Given the description of an element on the screen output the (x, y) to click on. 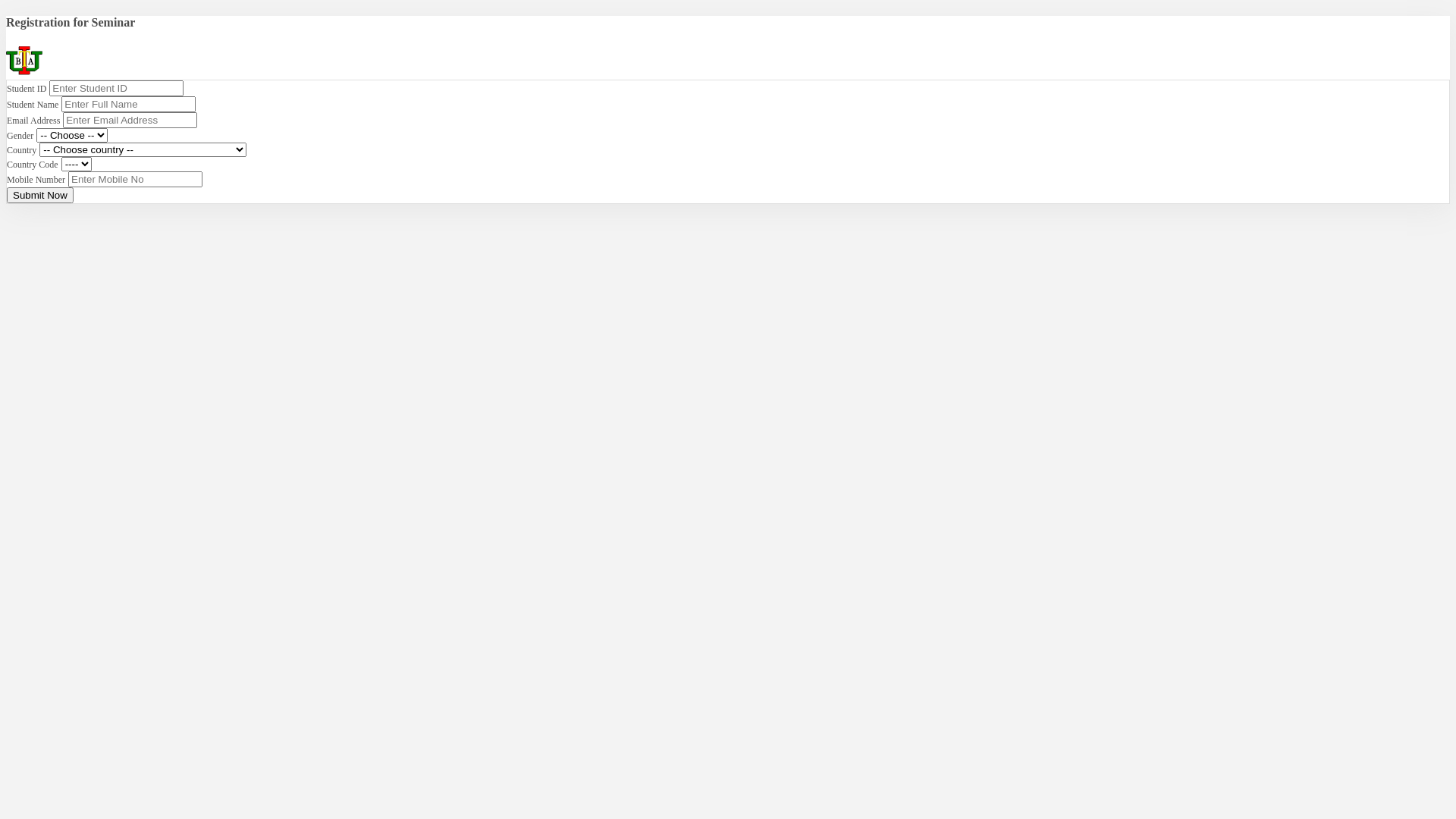
Submit Now Element type: text (39, 195)
